Given the description of an element on the screen output the (x, y) to click on. 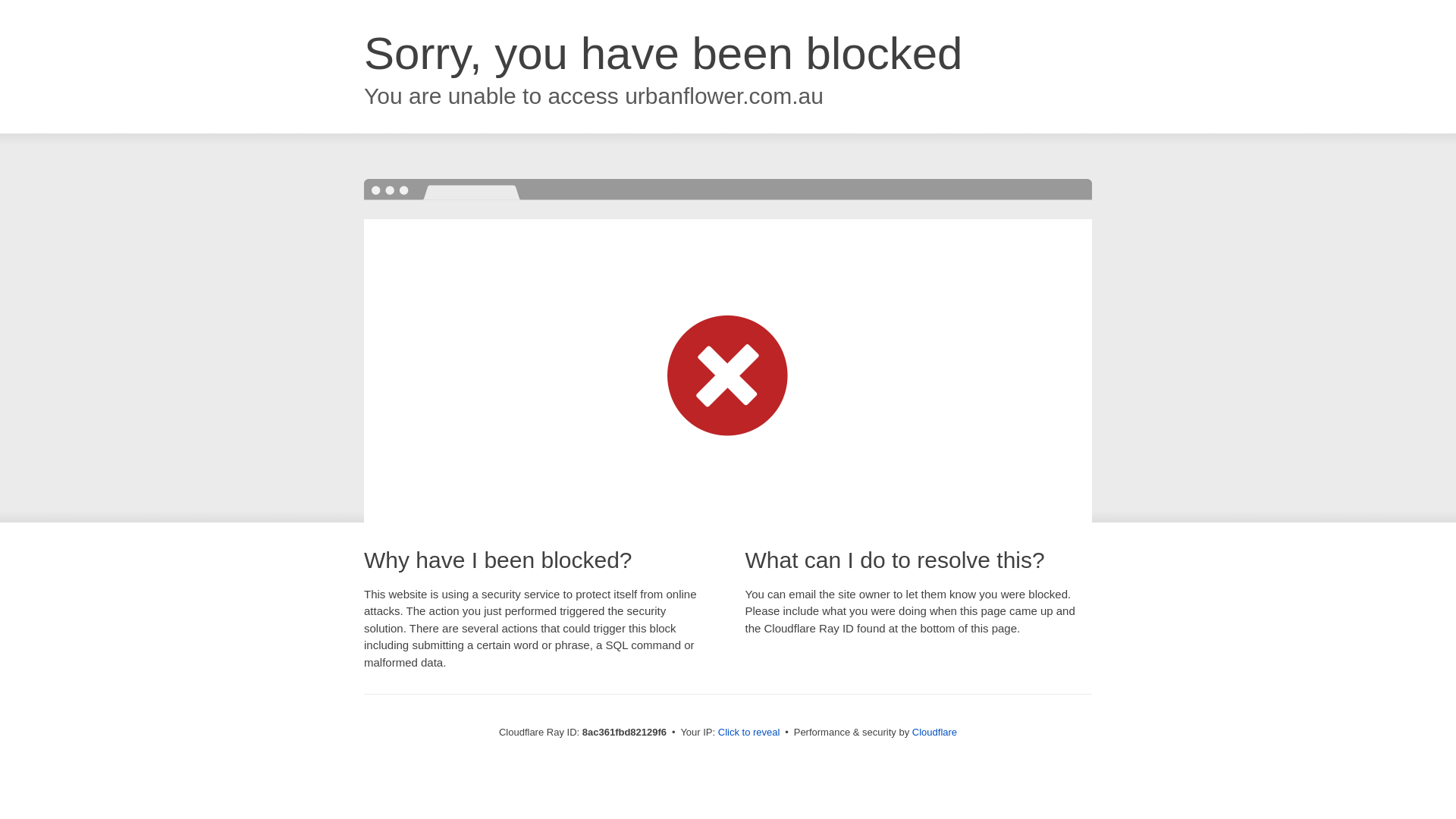
Cloudflare (934, 731)
Click to reveal (748, 732)
